Given the description of an element on the screen output the (x, y) to click on. 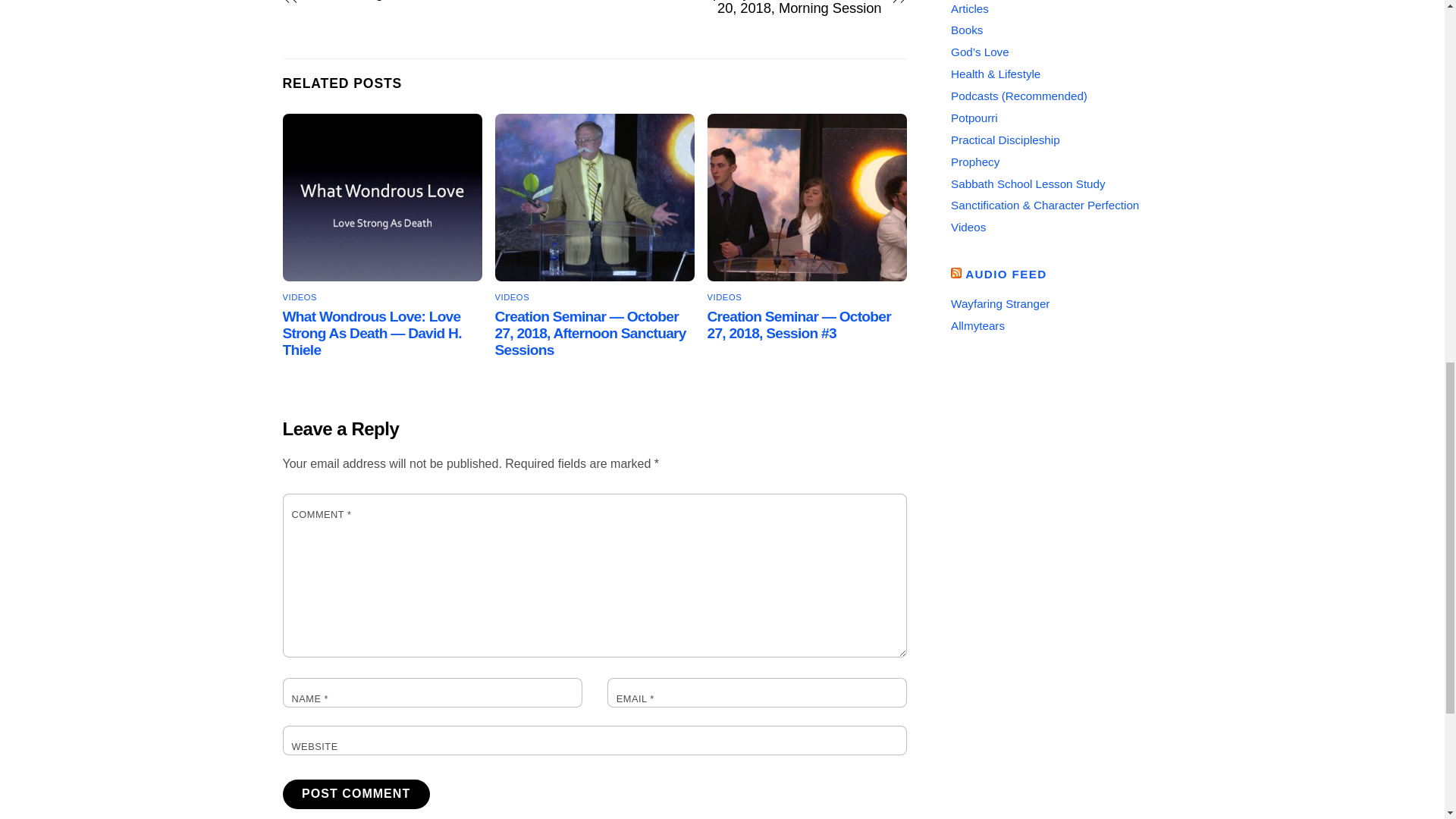
Post Comment (355, 794)
Books (966, 29)
VIDEOS (512, 297)
Post Comment (355, 794)
VIDEOS (299, 297)
Articles (969, 8)
VIDEOS (724, 297)
